Given the description of an element on the screen output the (x, y) to click on. 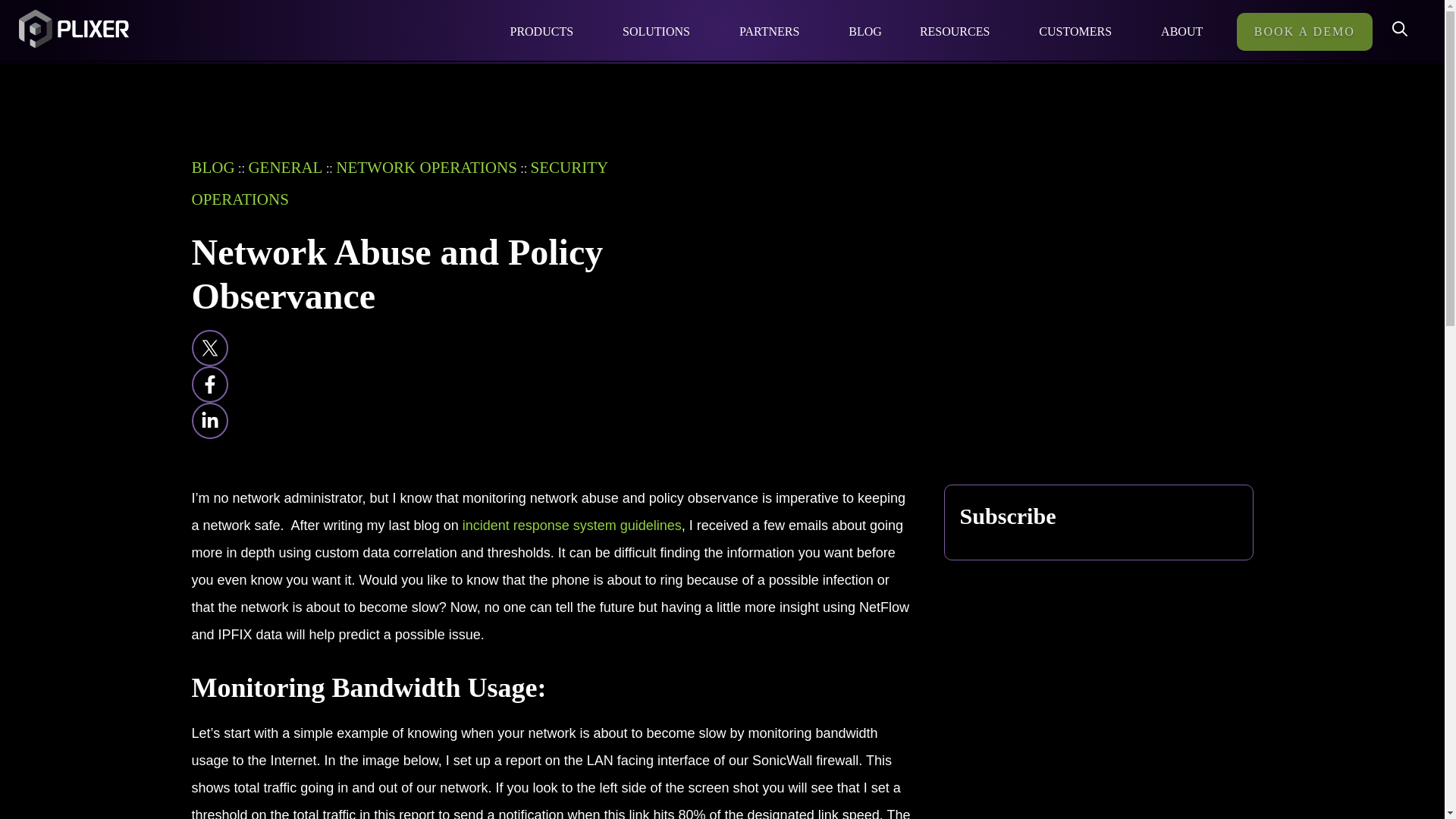
RESOURCES (960, 31)
PRODUCTS (547, 31)
BOOK A DEMO (1304, 31)
SOLUTIONS (662, 31)
Incident Response System Guidelines (572, 525)
CUSTOMERS (1080, 31)
ABOUT (1187, 31)
PARTNERS (774, 31)
incident response system guidelines (572, 525)
BLOG (865, 31)
